Given the description of an element on the screen output the (x, y) to click on. 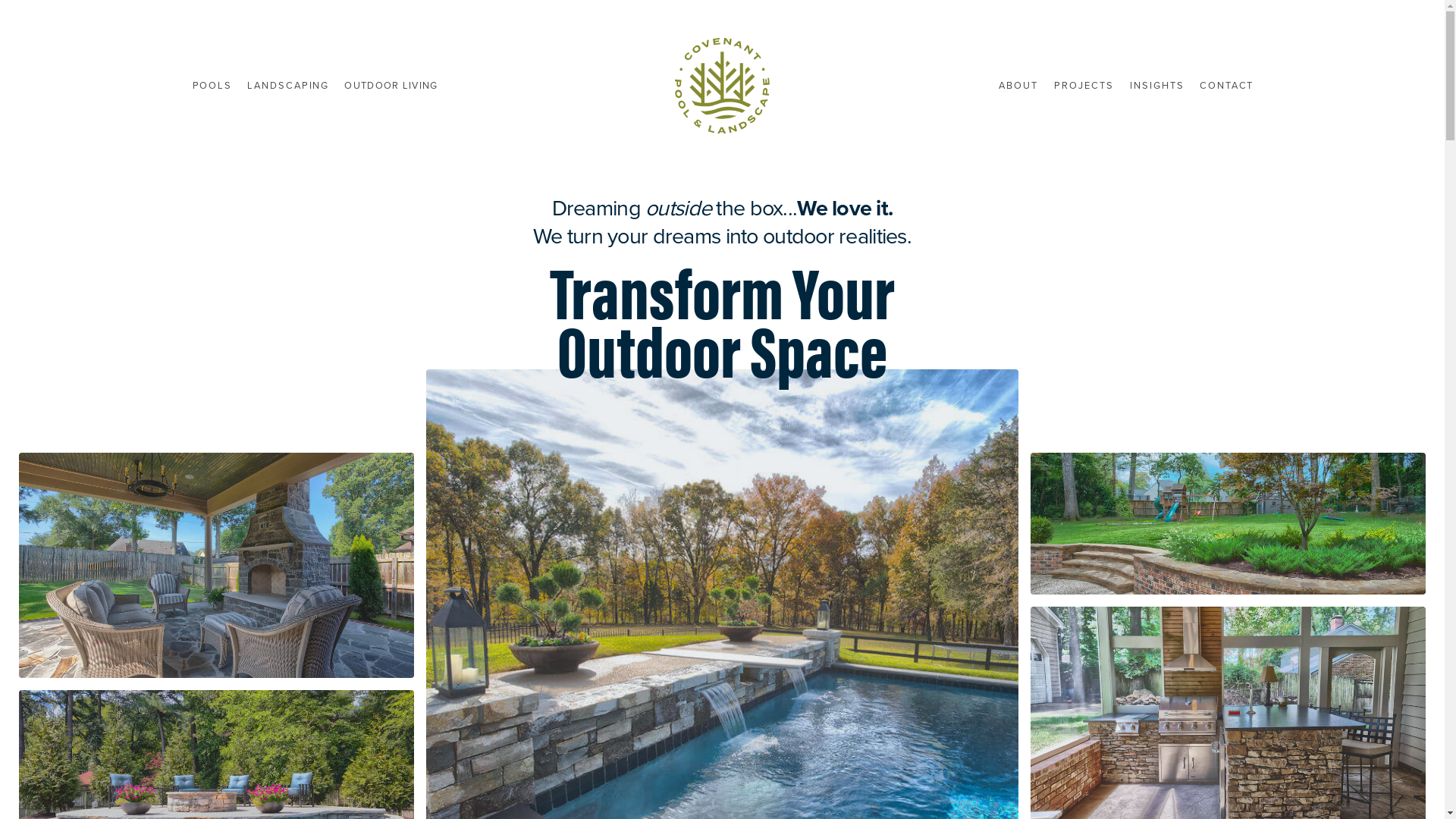
OUTDOOR LIVING Element type: text (390, 85)
PROJECTS Element type: text (1082, 85)
INSIGHTS Element type: text (1156, 85)
ABOUT Element type: text (1017, 85)
